Given the description of an element on the screen output the (x, y) to click on. 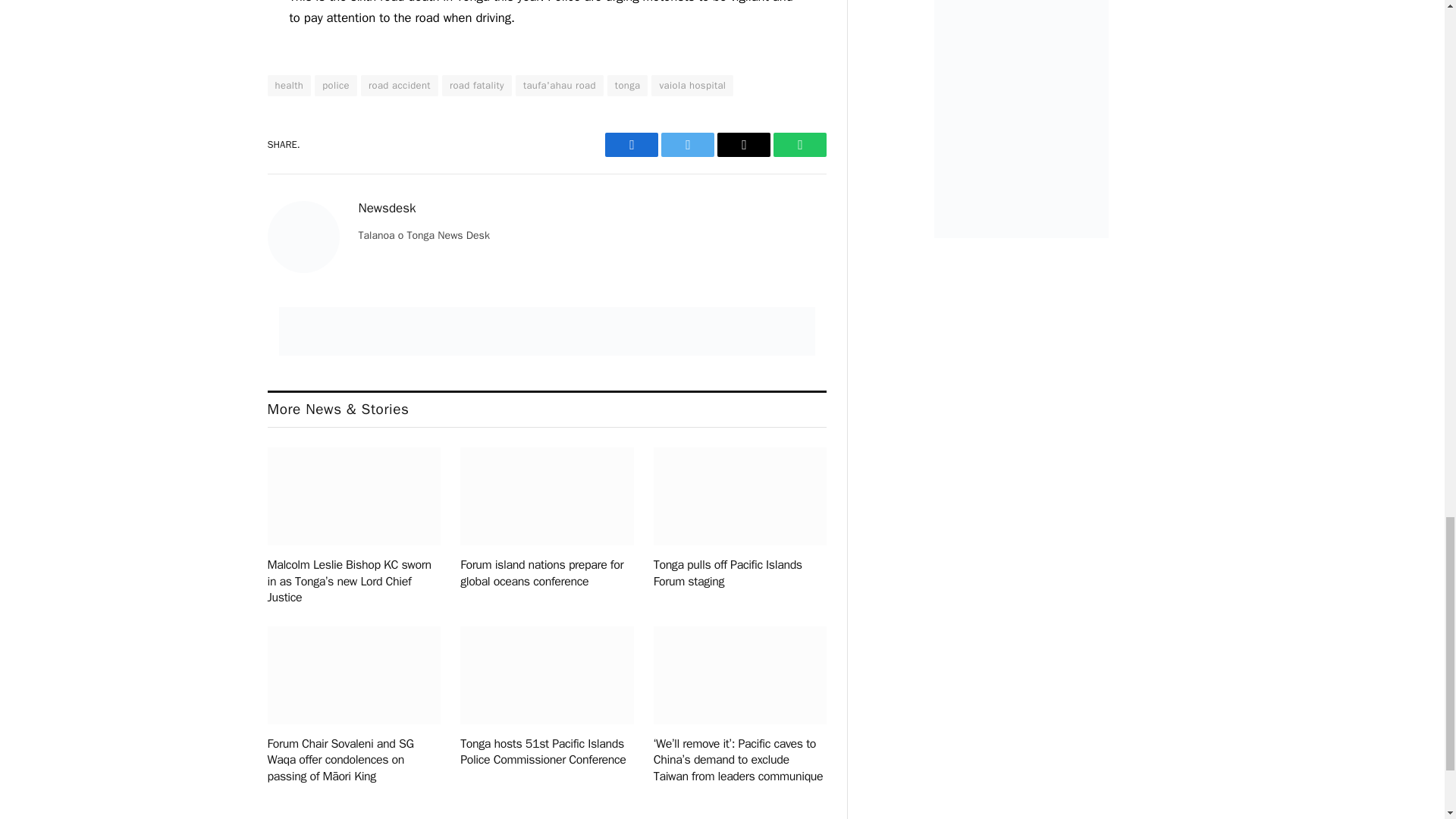
Share via Email (743, 144)
Posts by Newsdesk (386, 208)
Share on WhatsApp (800, 144)
Share on Facebook (631, 144)
Forum island nations prepare for global oceans conference (546, 496)
